Given the description of an element on the screen output the (x, y) to click on. 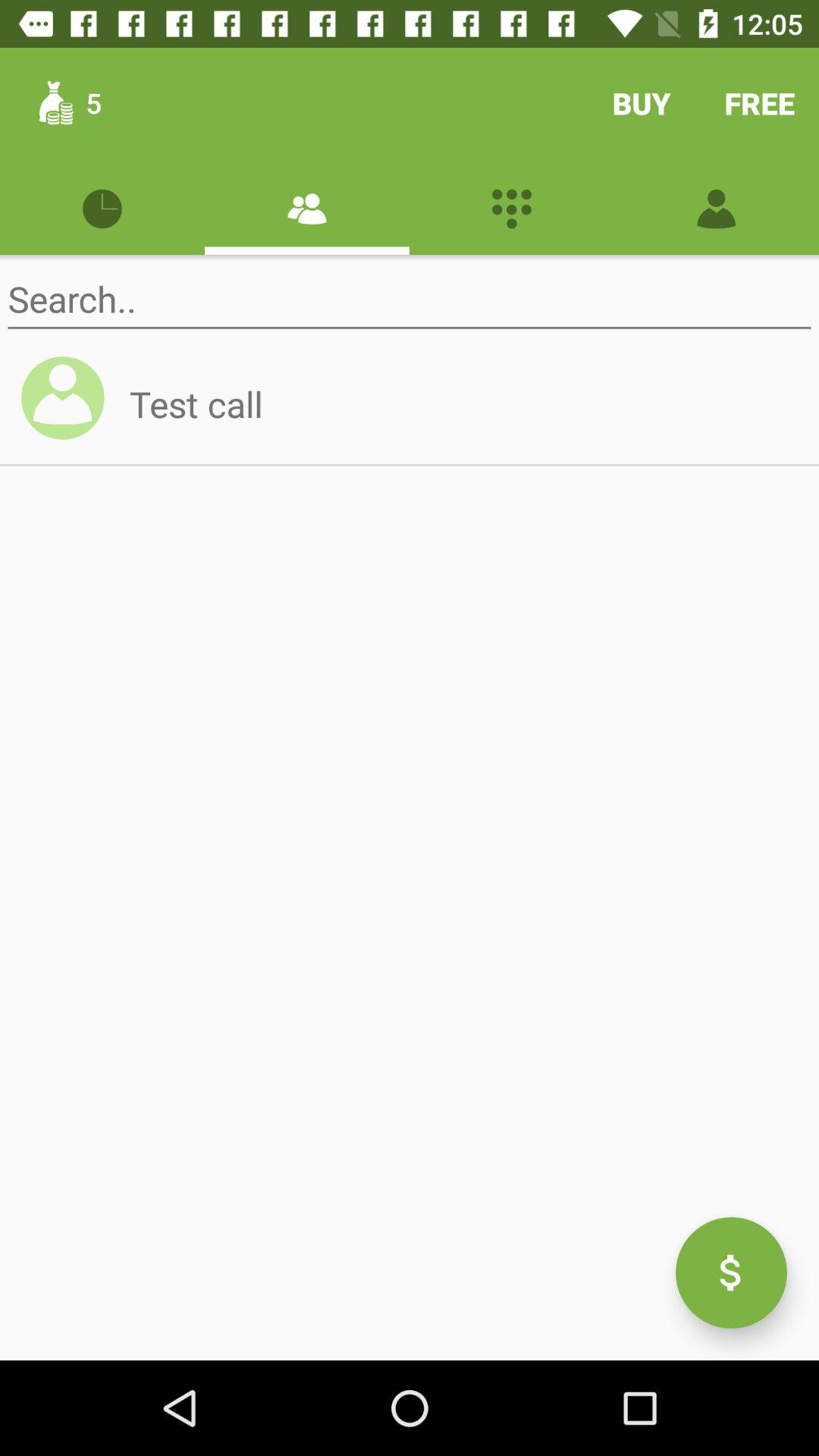
click icon below test call item (731, 1272)
